Given the description of an element on the screen output the (x, y) to click on. 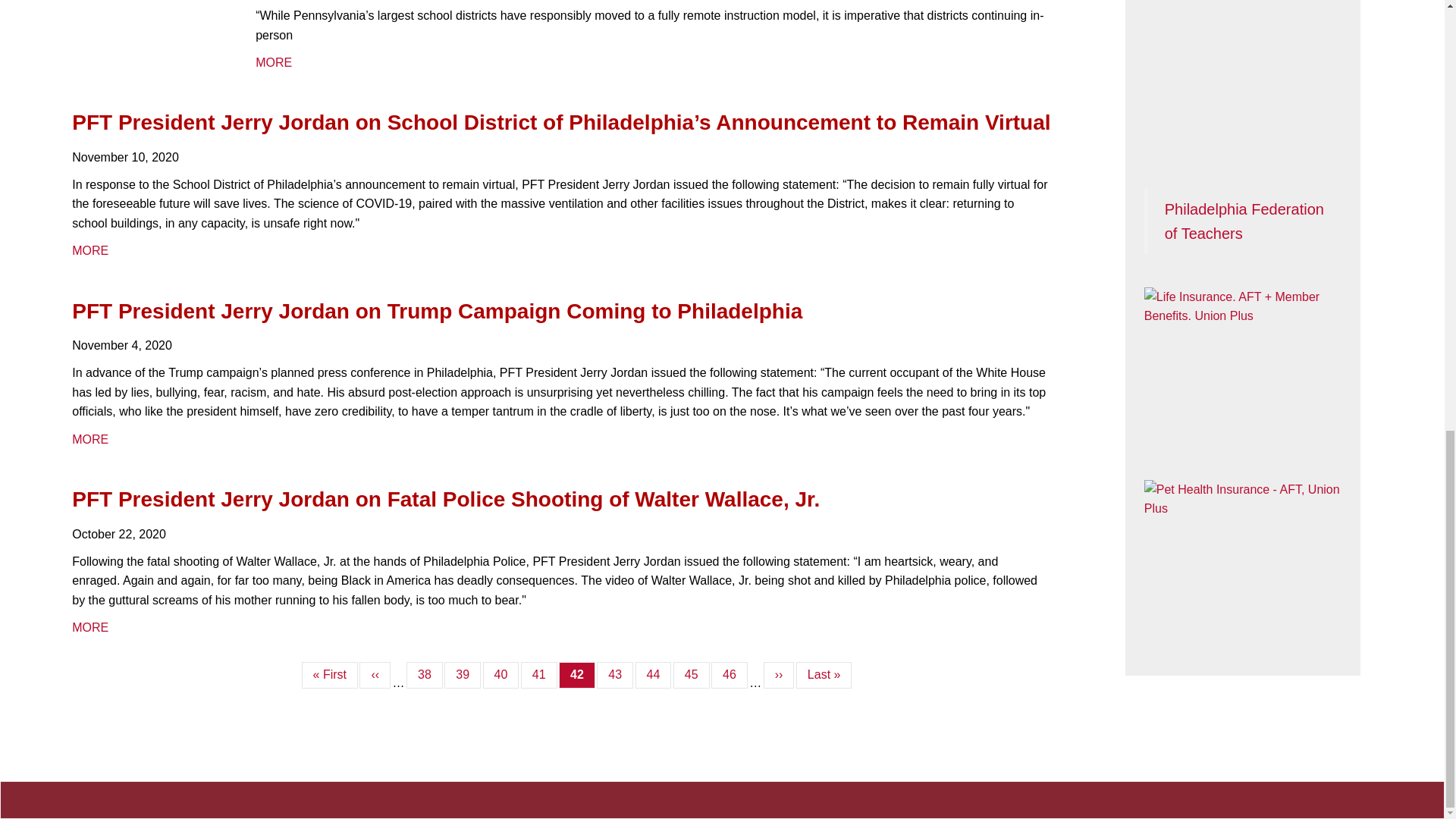
Philadelphia Federation of Teachers (1243, 220)
Go to page 39 (462, 674)
Go to page 38 (424, 674)
Go to first page (329, 674)
Go to previous page (374, 674)
